Given the description of an element on the screen output the (x, y) to click on. 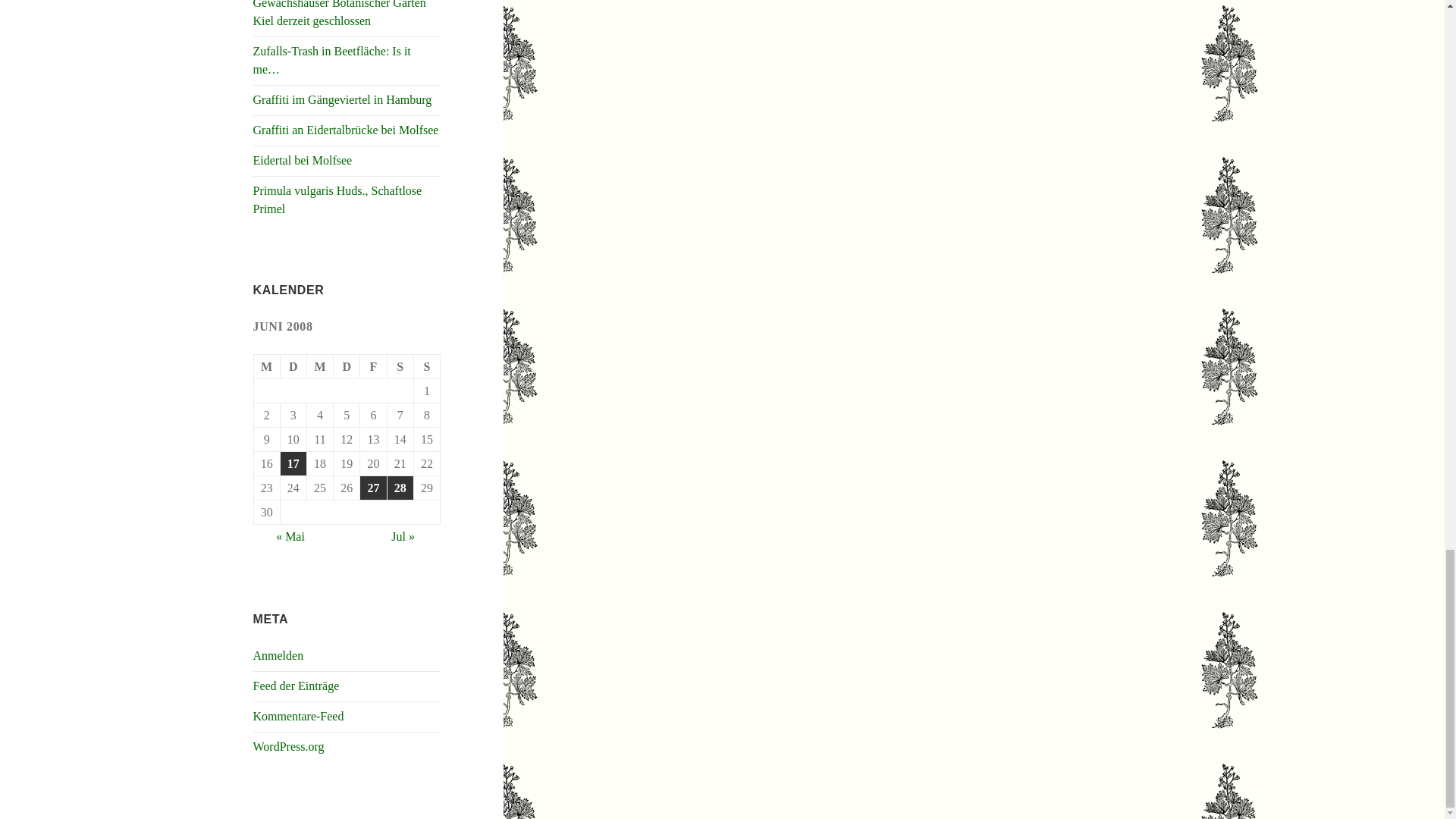
Sonntag (427, 366)
Mittwoch (320, 366)
Dienstag (294, 366)
Samstag (400, 366)
Donnerstag (346, 366)
Montag (267, 366)
Freitag (373, 366)
